Given the description of an element on the screen output the (x, y) to click on. 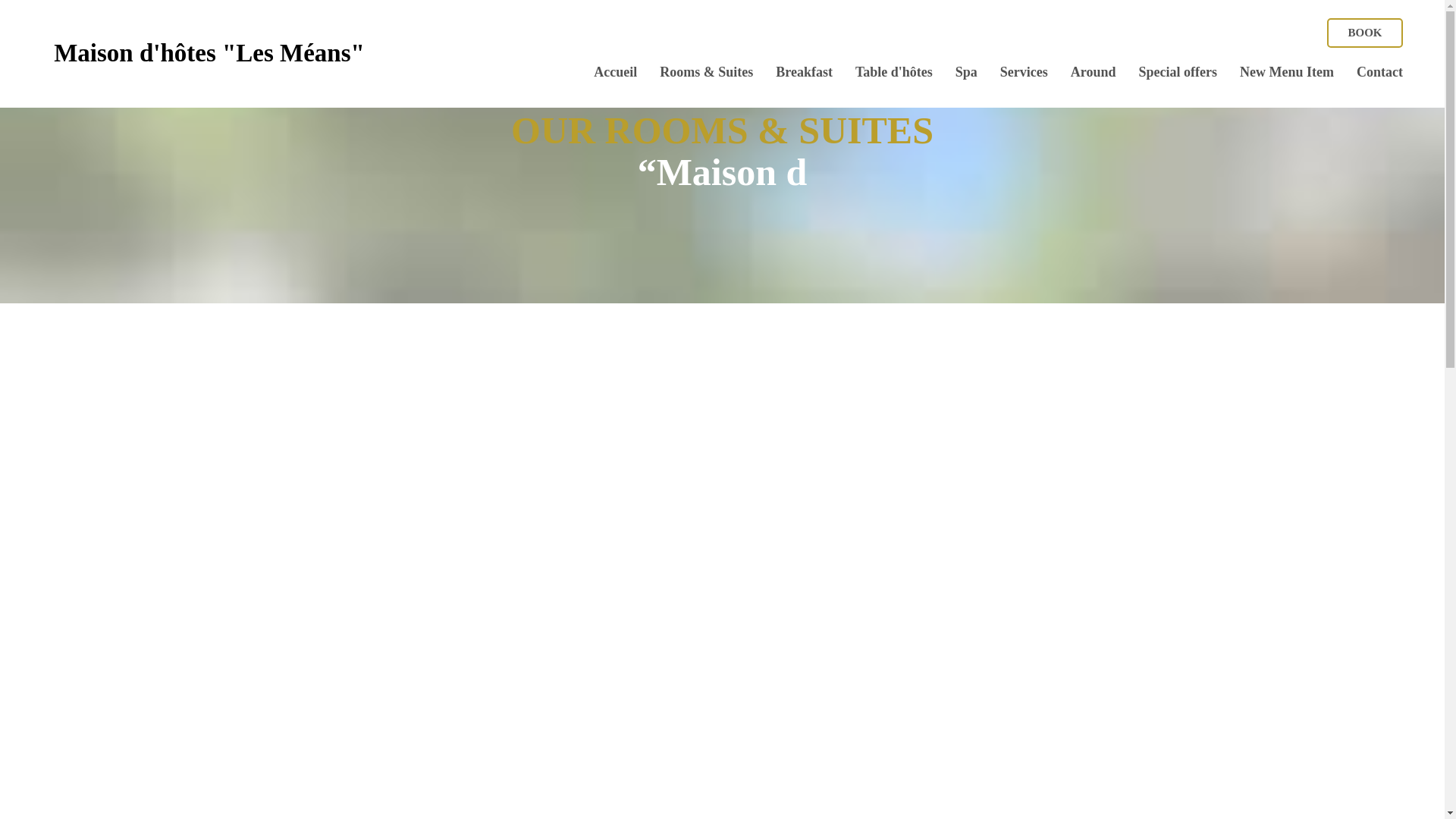
Breakfast (804, 71)
Around (1093, 71)
Contact (1379, 71)
Spa (965, 71)
Services (1024, 71)
Accueil (615, 71)
Special offers (1177, 71)
BOOK (1364, 32)
